Given the description of an element on the screen output the (x, y) to click on. 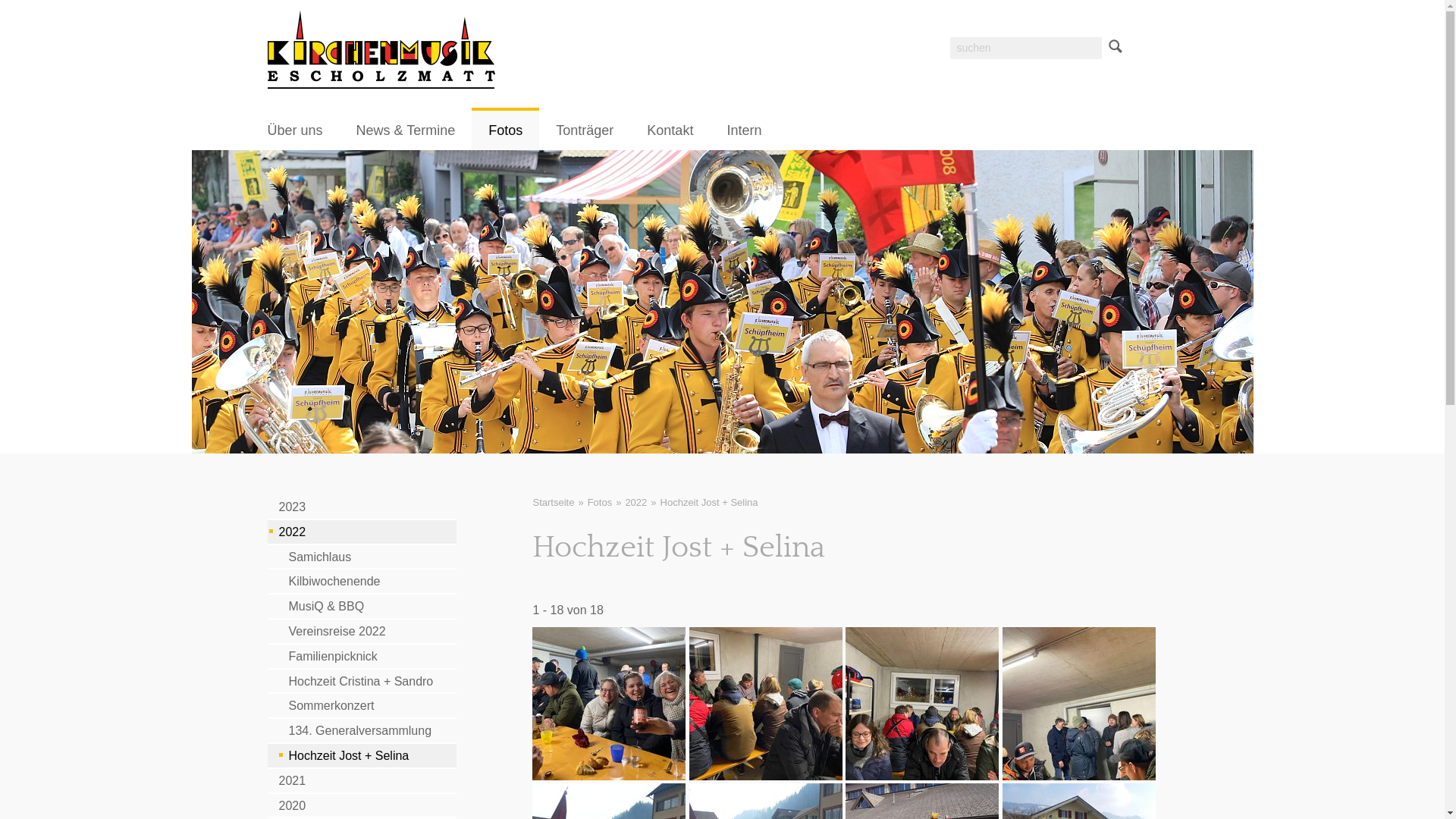
Familienpicknick Element type: text (361, 656)
Fotos Element type: text (599, 502)
2023 Element type: text (361, 506)
Hochzeit Jost + Selina Element type: text (361, 755)
Sommerkonzert Element type: text (361, 705)
2020 Element type: text (361, 805)
Intern Element type: text (743, 128)
Fotos Element type: text (505, 128)
2022 Element type: text (361, 531)
Startseite Element type: hover (380, 48)
134. Generalversammlung Element type: text (361, 730)
News & Termine Element type: text (405, 128)
2022 Element type: text (635, 502)
Startseite Element type: text (553, 502)
Samichlaus Element type: text (361, 556)
MusiQ & BBQ Element type: text (361, 606)
Kilbiwochenende Element type: text (361, 581)
Vereinsreise 2022 Element type: text (361, 631)
Kontakt Element type: text (669, 128)
Hochzeit Cristina + Sandro Element type: text (361, 681)
2021 Element type: text (361, 780)
